Given the description of an element on the screen output the (x, y) to click on. 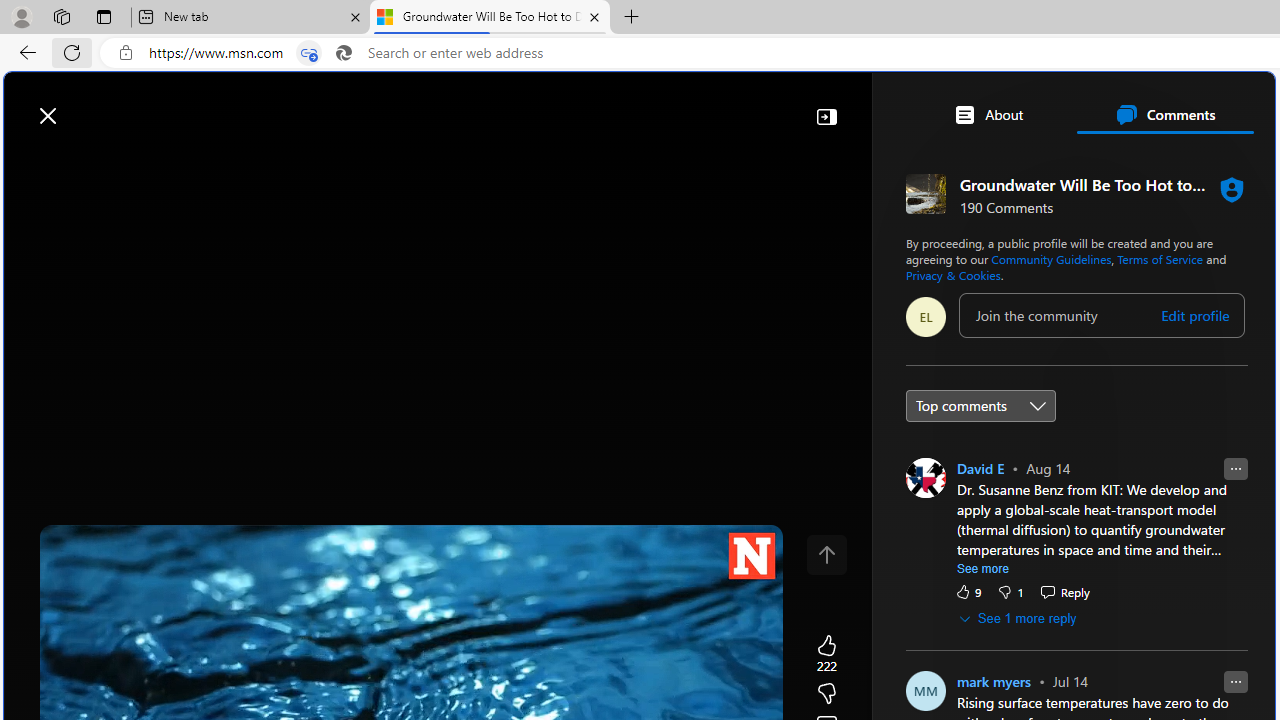
Terms of Service (1160, 258)
Sort comments by (980, 404)
Nordace.com (1016, 439)
comment-box (1101, 314)
